Given the description of an element on the screen output the (x, y) to click on. 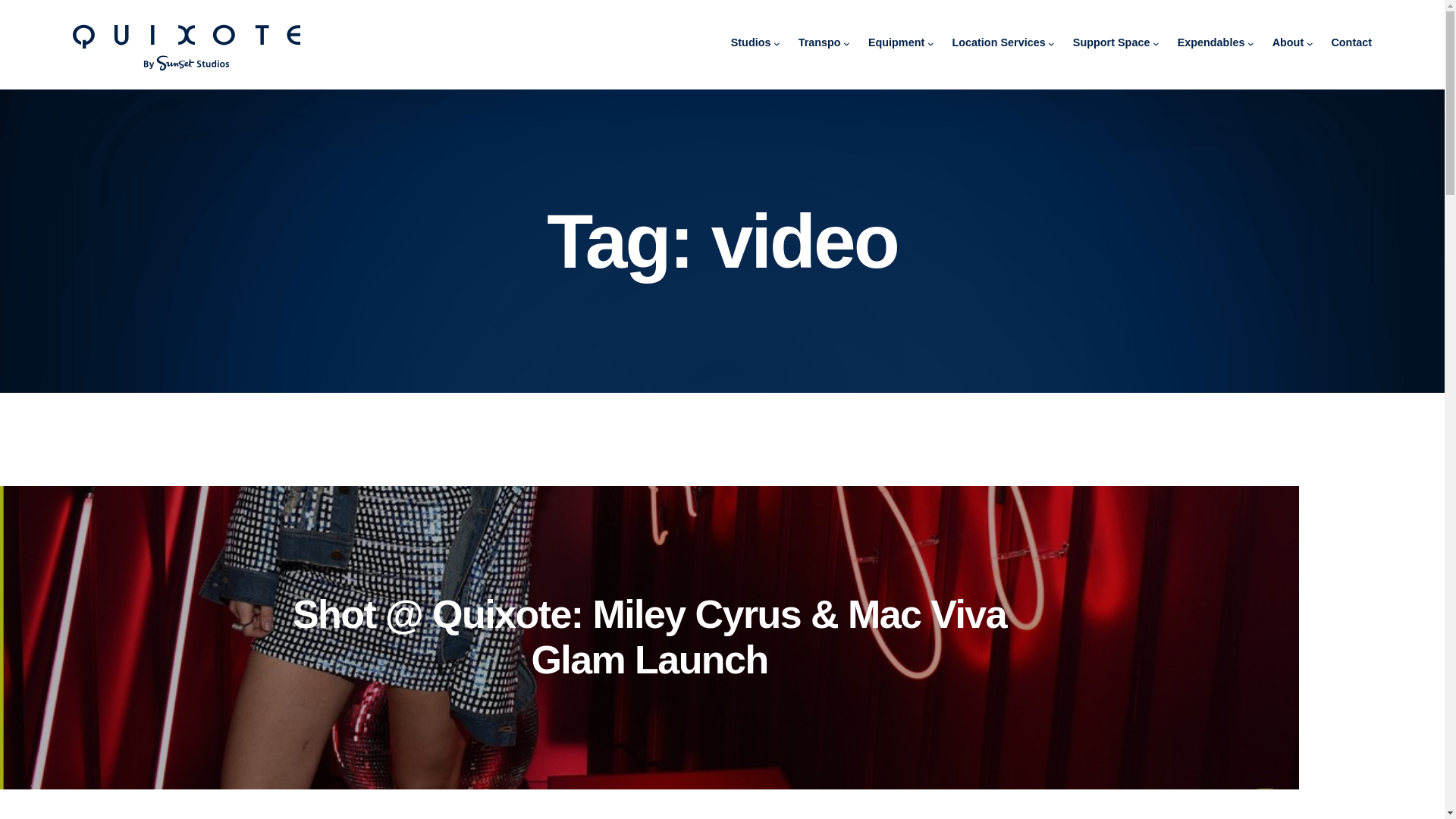
Studios (750, 43)
Transpo (819, 43)
